Given the description of an element on the screen output the (x, y) to click on. 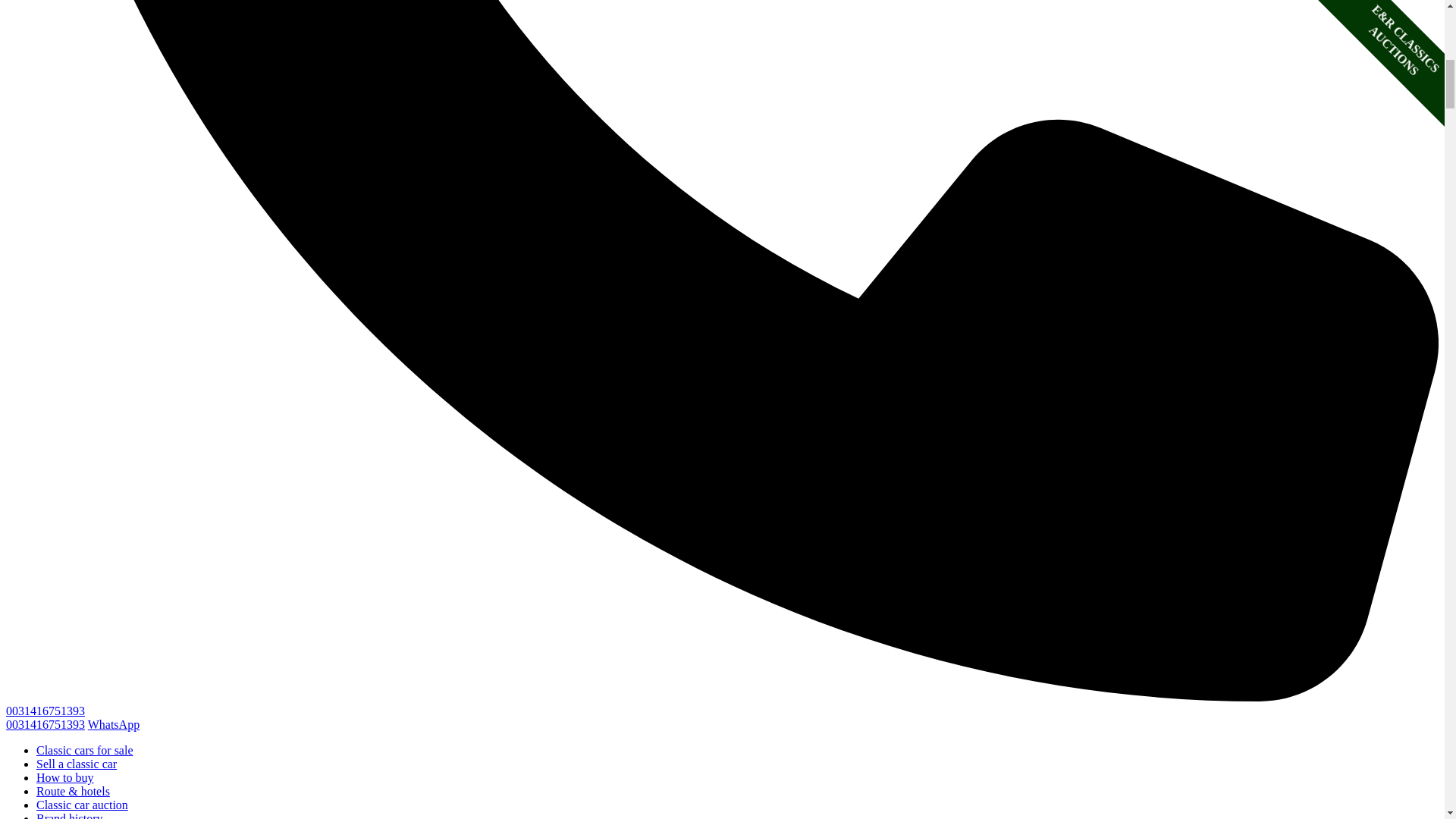
Brand history (69, 815)
Classic car auction (82, 804)
WhatsApp (113, 724)
How to buy (65, 777)
Sell a classic car (76, 763)
Classic cars for sale (84, 749)
0031416751393 (44, 724)
